Given the description of an element on the screen output the (x, y) to click on. 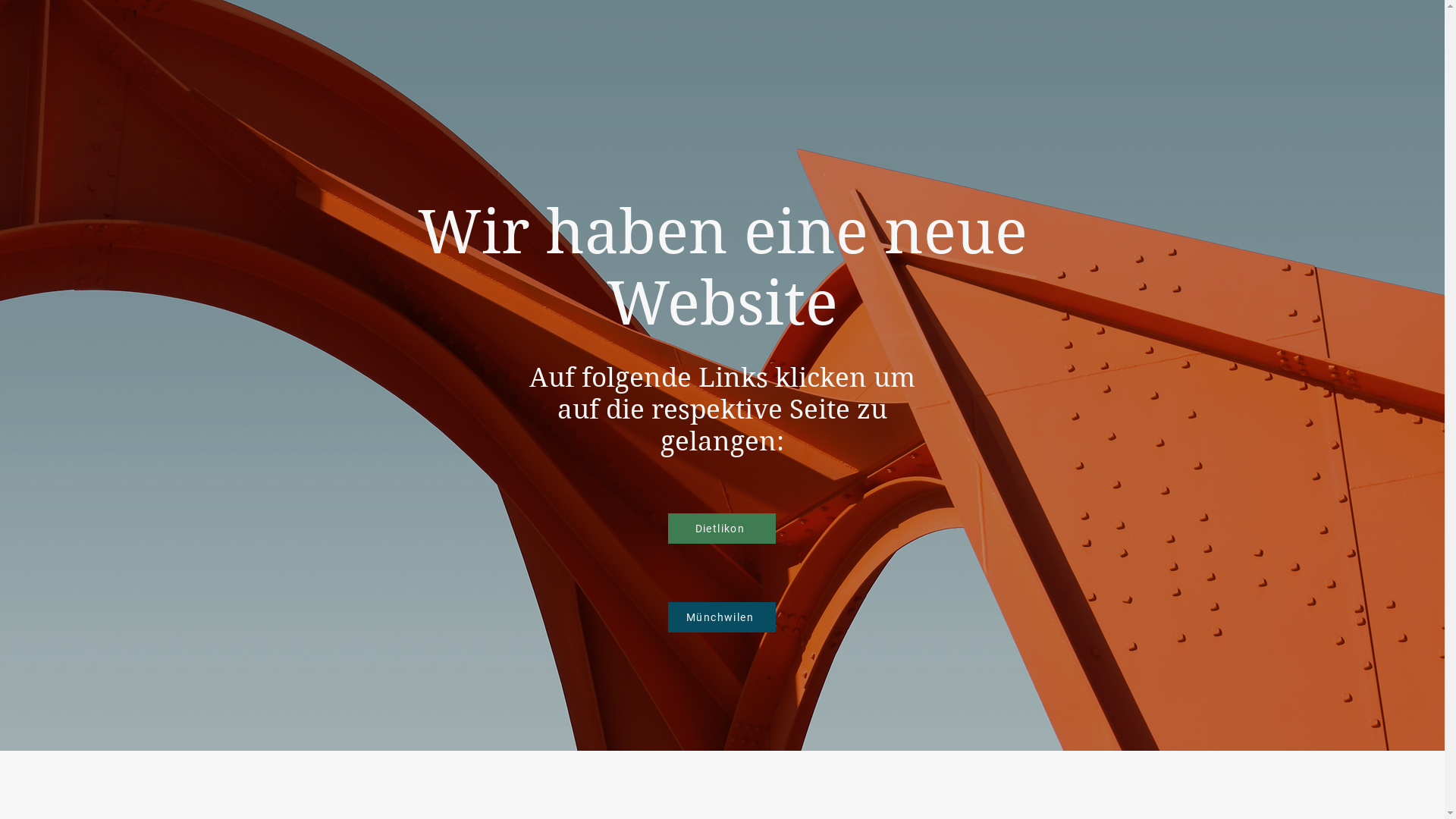
Dietlikon Element type: text (721, 528)
